Given the description of an element on the screen output the (x, y) to click on. 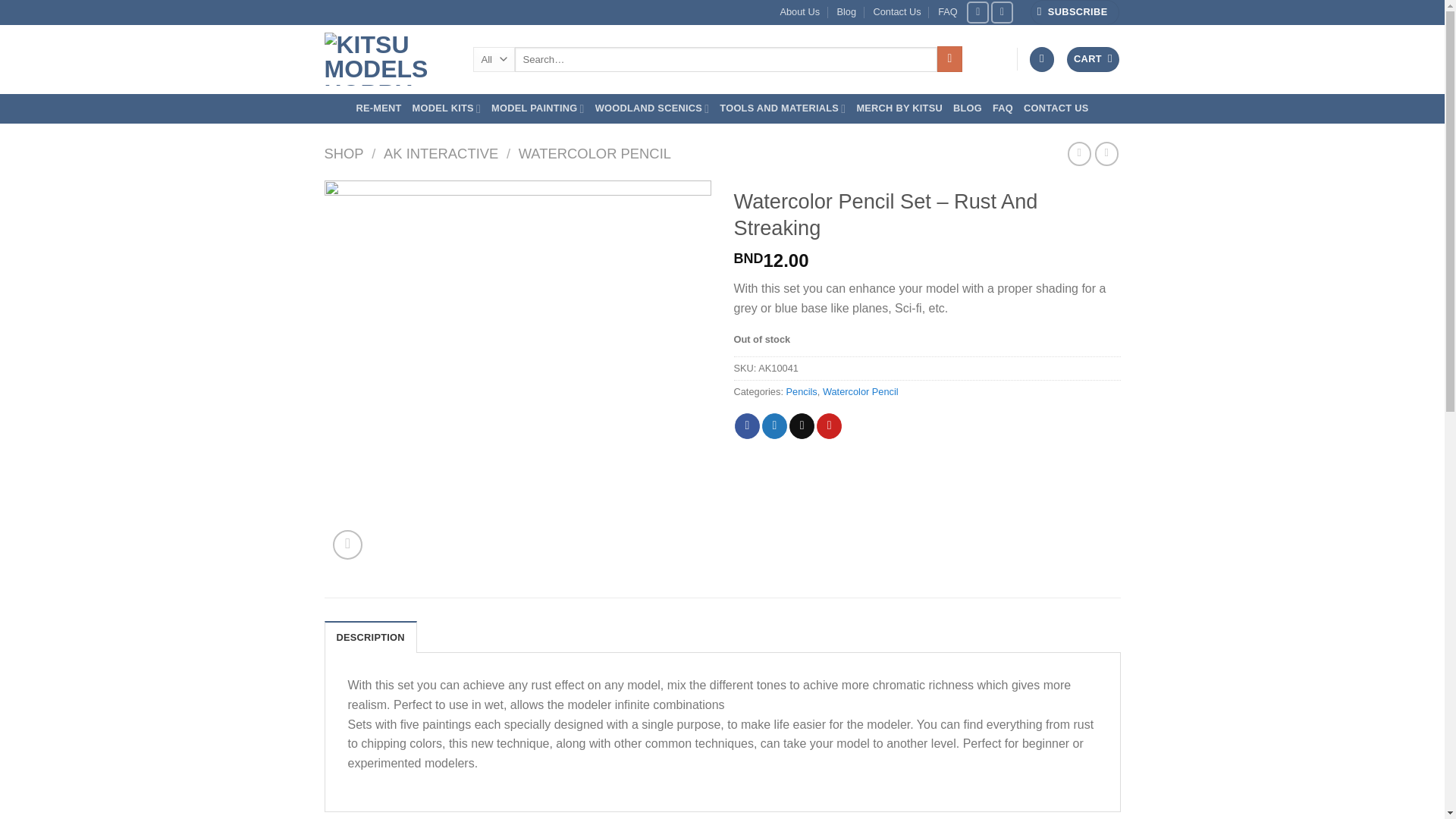
Cart (1093, 59)
About Us (798, 11)
Sign up for Our Newsletter (1074, 12)
Kitsu Models Hobby Shop - Specialist Hobby Shop in Brunei (386, 58)
Follow on Facebook (977, 12)
Login (1041, 59)
FAQ (947, 11)
Contact Us (896, 11)
Search (949, 58)
SUBSCRIBE (1074, 12)
CART (1093, 59)
MODEL KITS (446, 108)
Share on Facebook (747, 425)
Blog (845, 11)
Follow on Instagram (1002, 12)
